Given the description of an element on the screen output the (x, y) to click on. 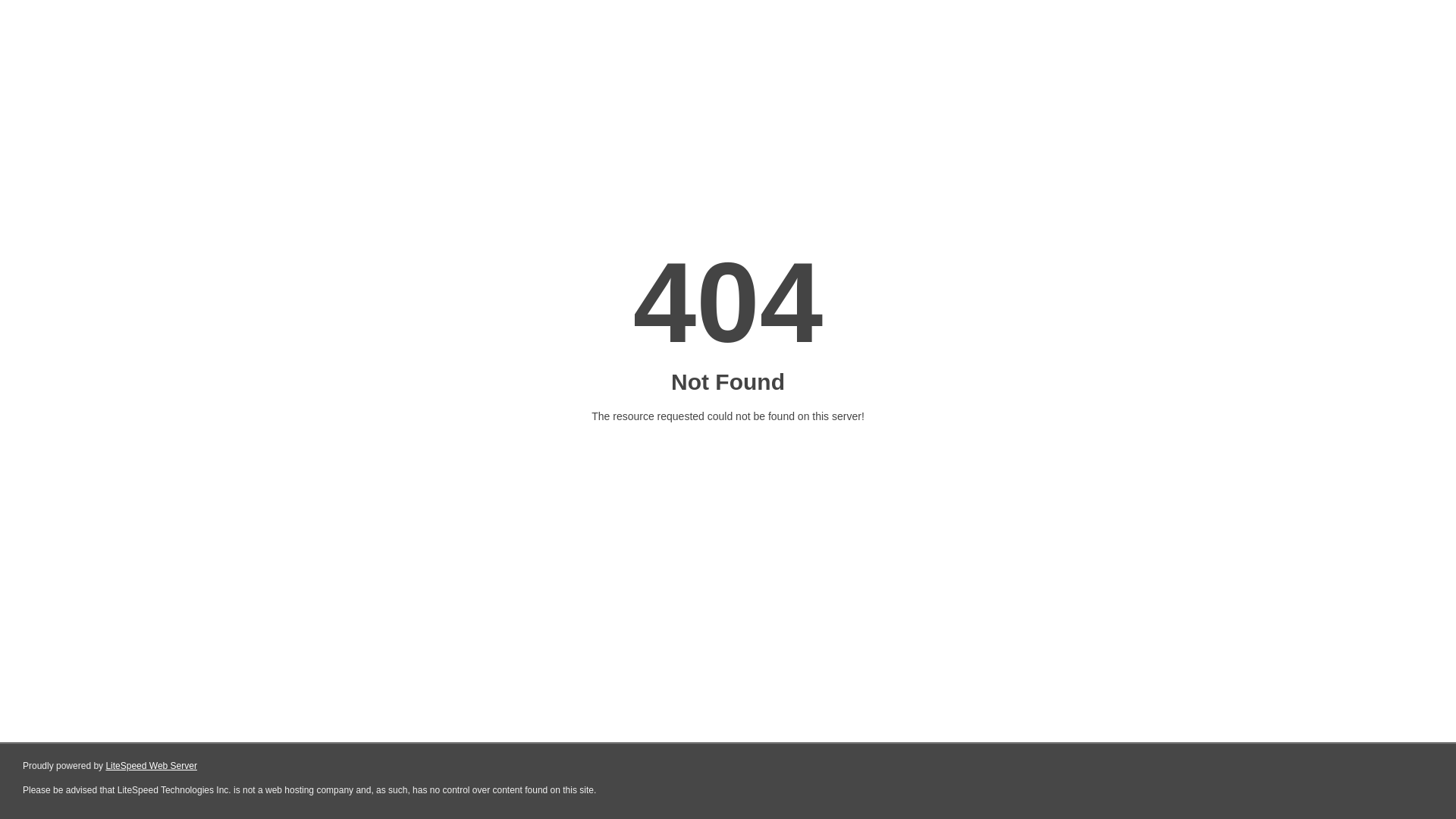
LiteSpeed Web Server Element type: text (151, 765)
